Given the description of an element on the screen output the (x, y) to click on. 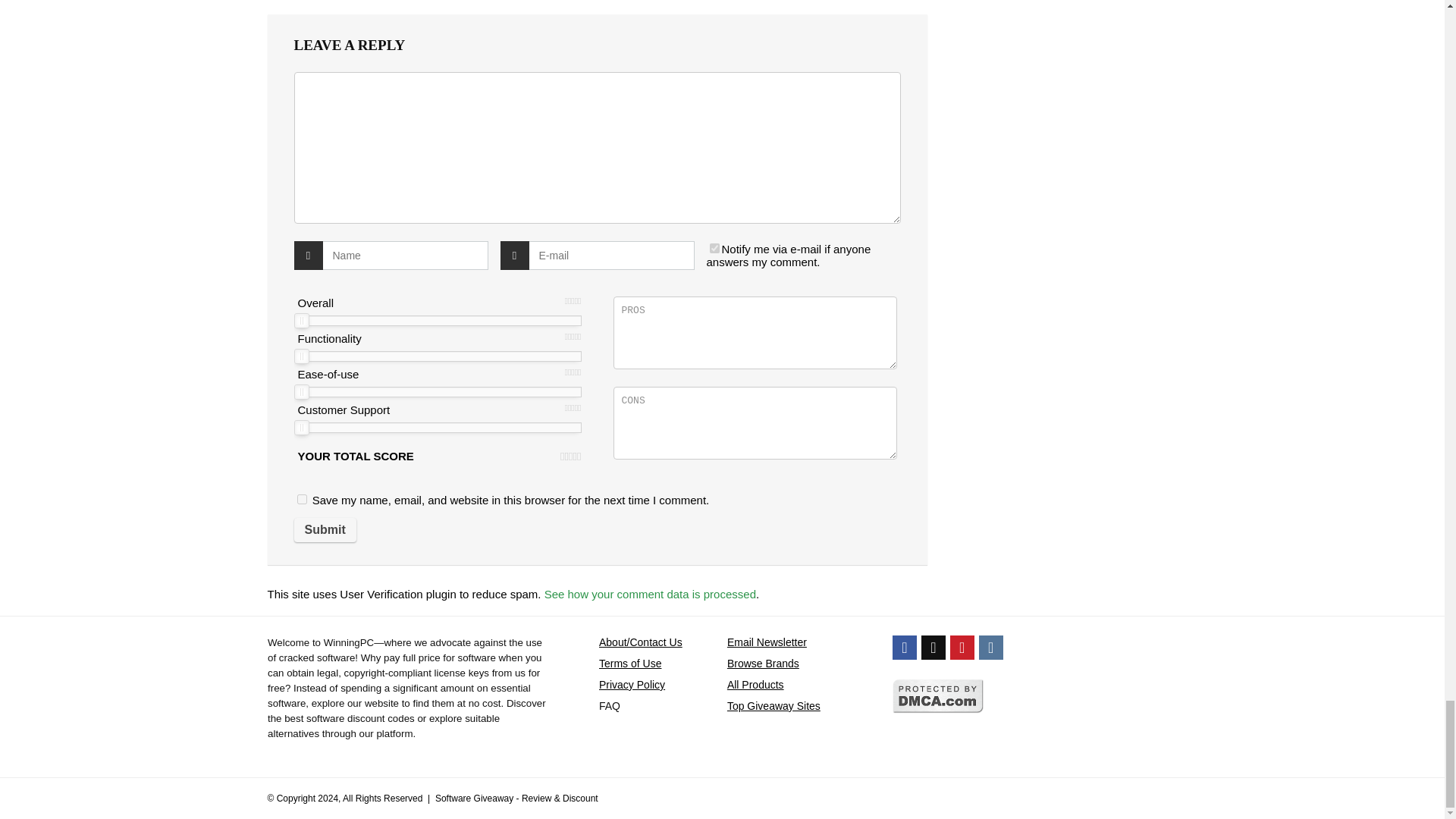
on (714, 248)
yes (302, 499)
Submit (325, 529)
